Given the description of an element on the screen output the (x, y) to click on. 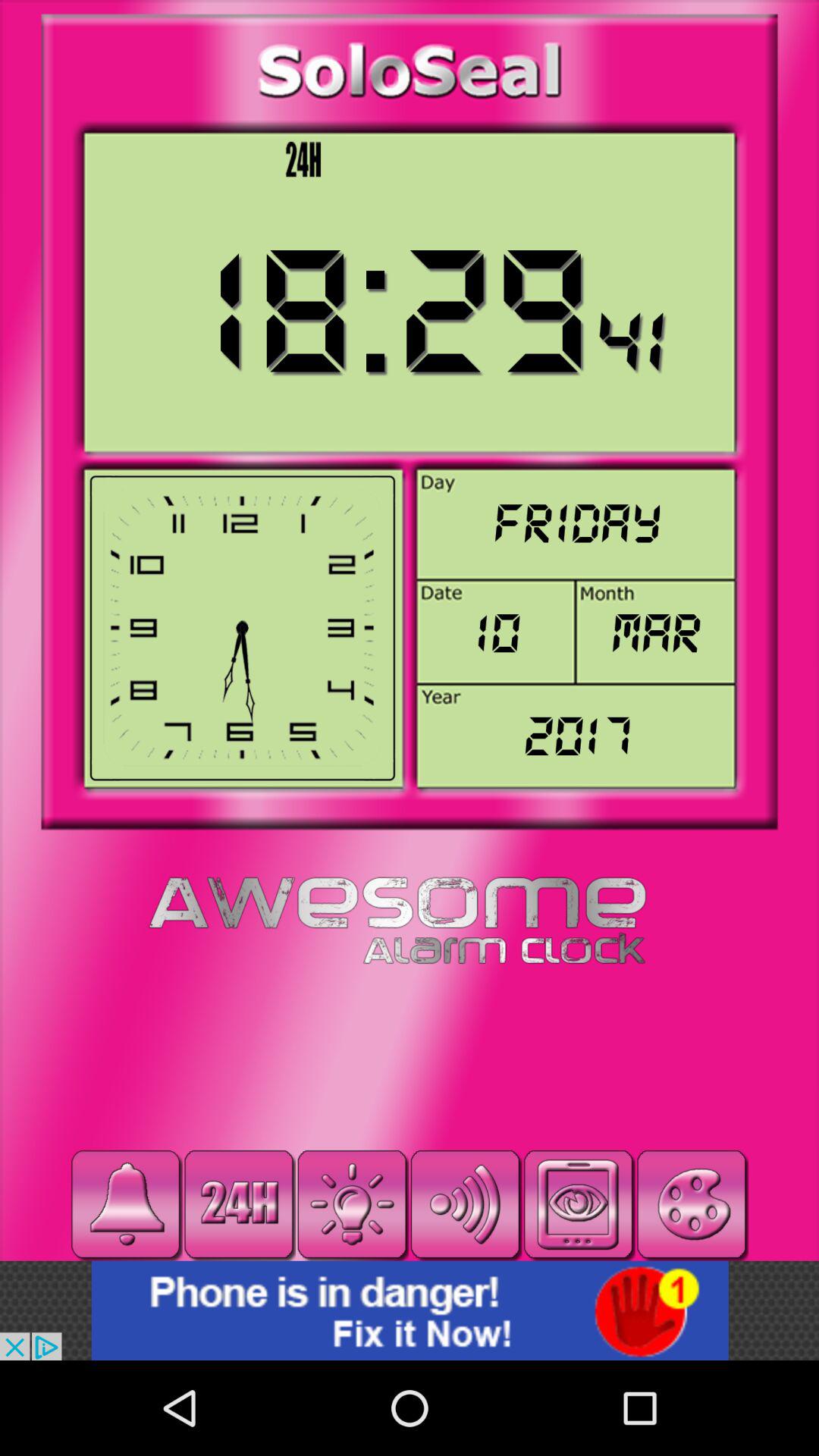
make a new timer (351, 1203)
